Given the description of an element on the screen output the (x, y) to click on. 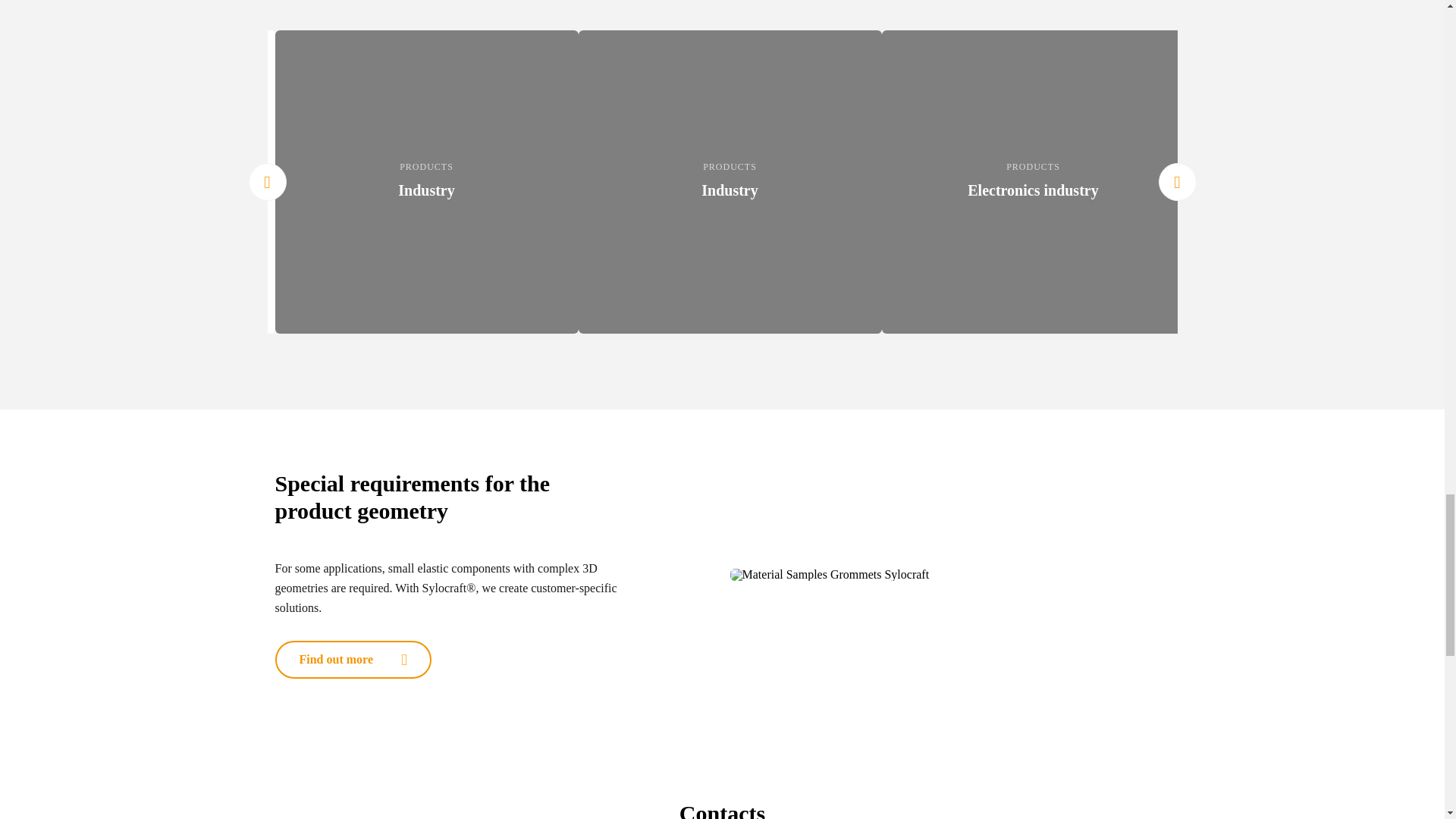
Material Samples Grommets Sylocraft (949, 574)
